Given the description of an element on the screen output the (x, y) to click on. 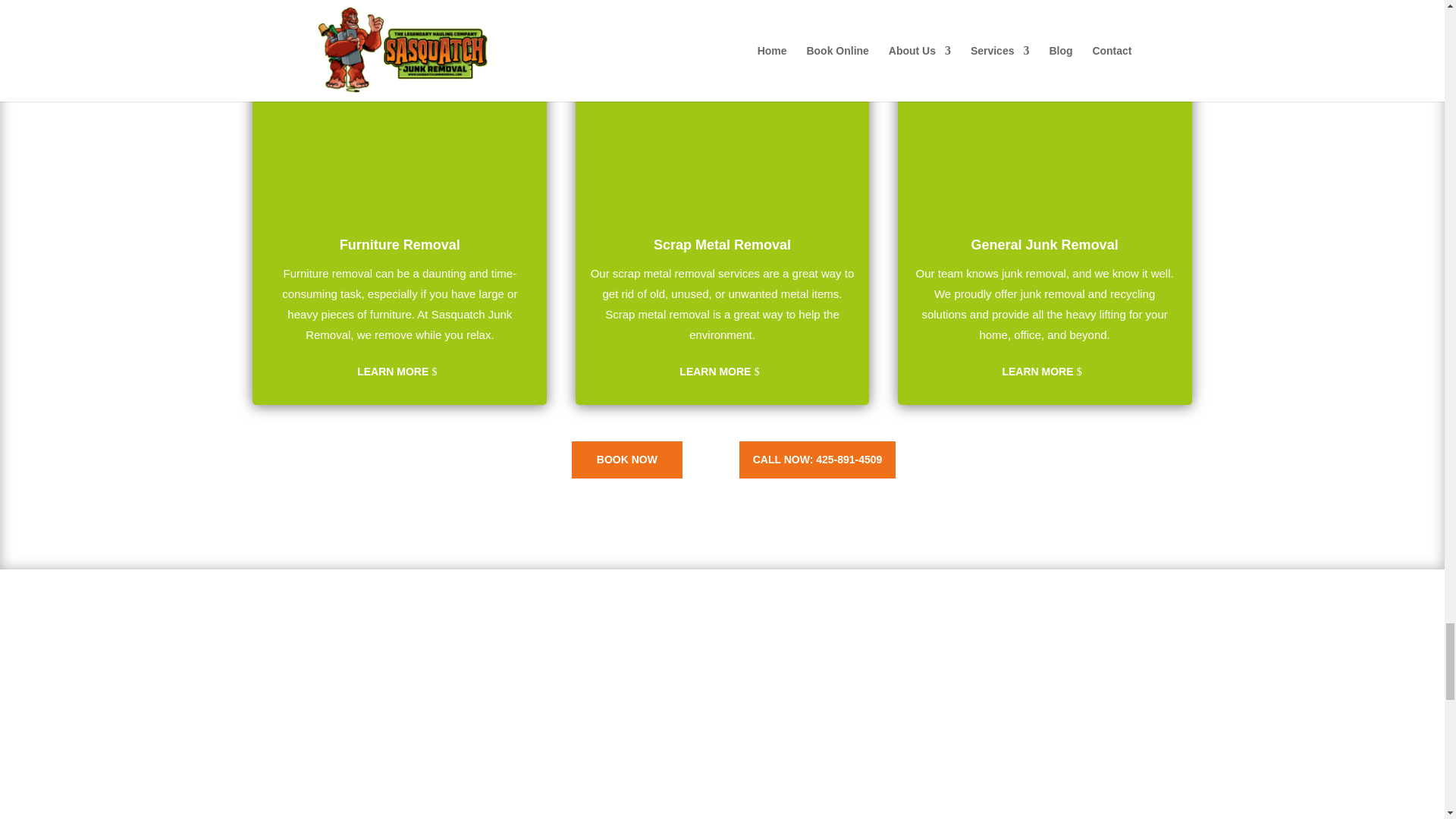
CALL NOW: 425-891-4509 (817, 460)
BOOK NOW (627, 460)
LEARN MORE (399, 371)
LEARN MORE (1044, 371)
LEARN MORE (722, 371)
